Given the description of an element on the screen output the (x, y) to click on. 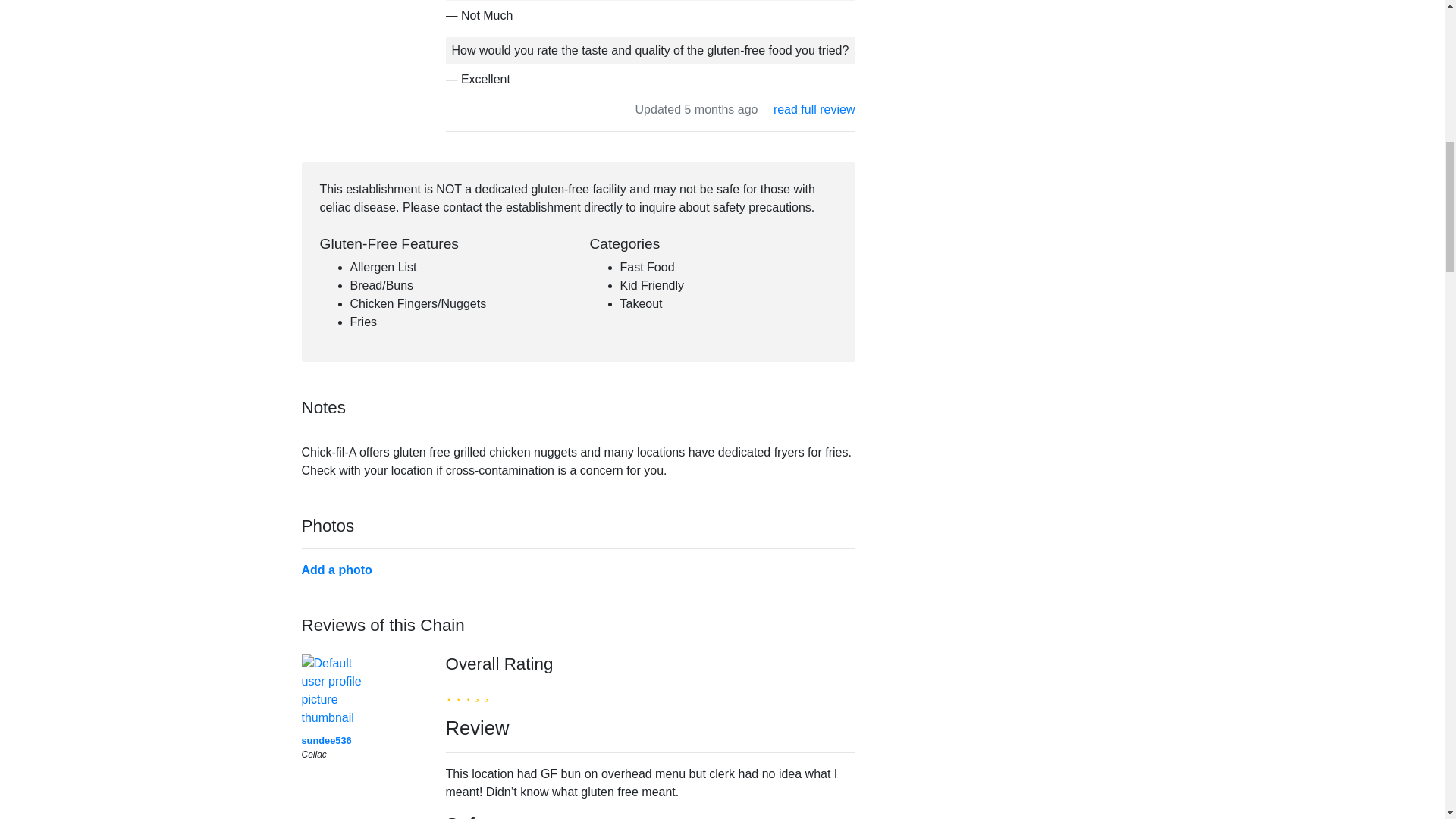
sundee536 (326, 740)
read full review (814, 109)
3 star rating (467, 692)
Add a photo (336, 569)
